Given the description of an element on the screen output the (x, y) to click on. 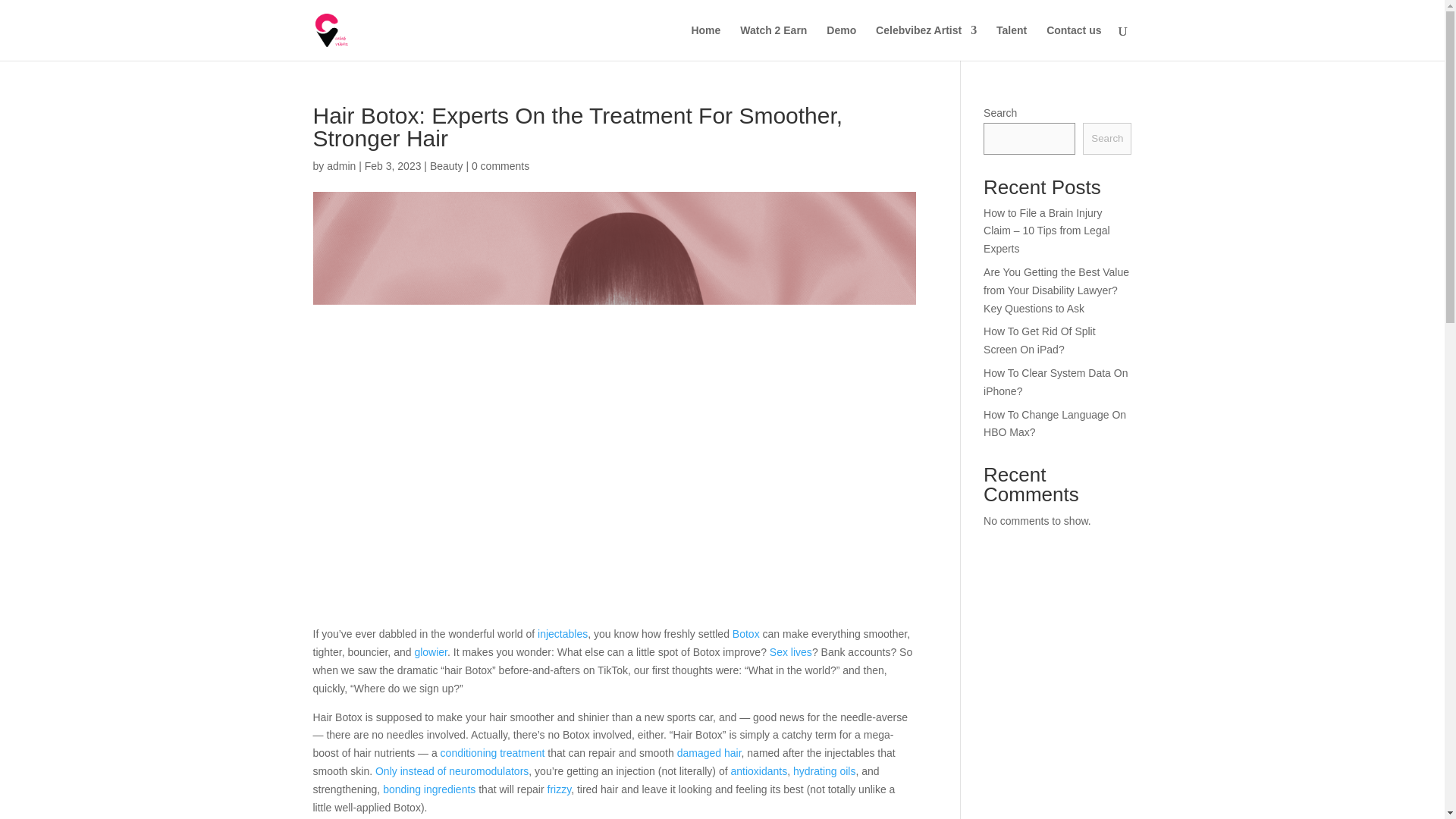
frizzy (559, 788)
bonding ingredients (429, 788)
Botox (746, 633)
hydrating oils (824, 770)
How To Clear System Data On iPhone? (1055, 381)
antioxidants (758, 770)
conditioning treatment (492, 752)
injectables (562, 633)
Posts by admin (340, 165)
damaged hair (709, 752)
